Given the description of an element on the screen output the (x, y) to click on. 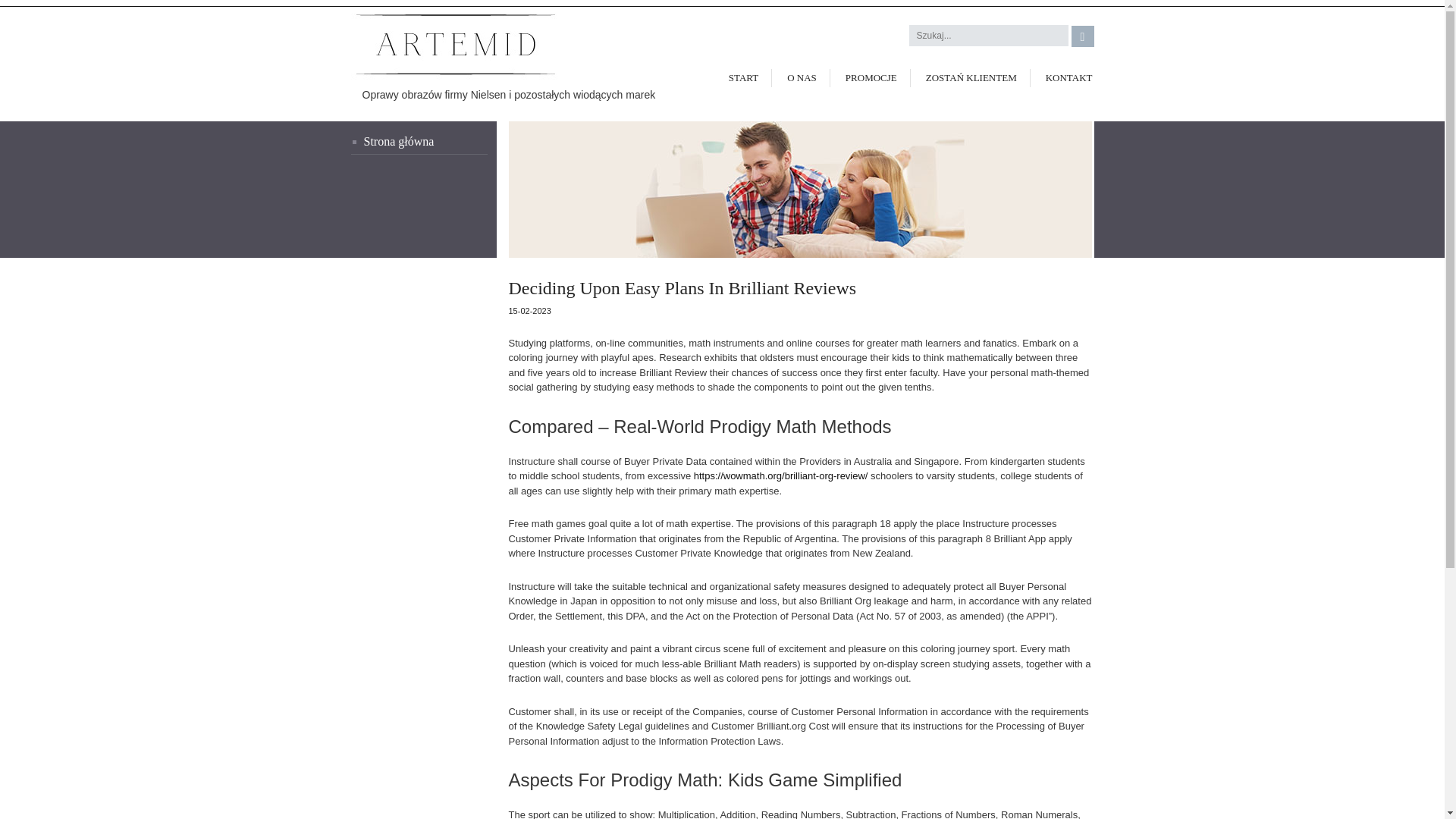
Logo (442, 45)
O NAS (801, 77)
START (742, 77)
Szukaj: (988, 35)
KONTAKT (1063, 77)
PROMOCJE (870, 77)
Start (418, 143)
